Given the description of an element on the screen output the (x, y) to click on. 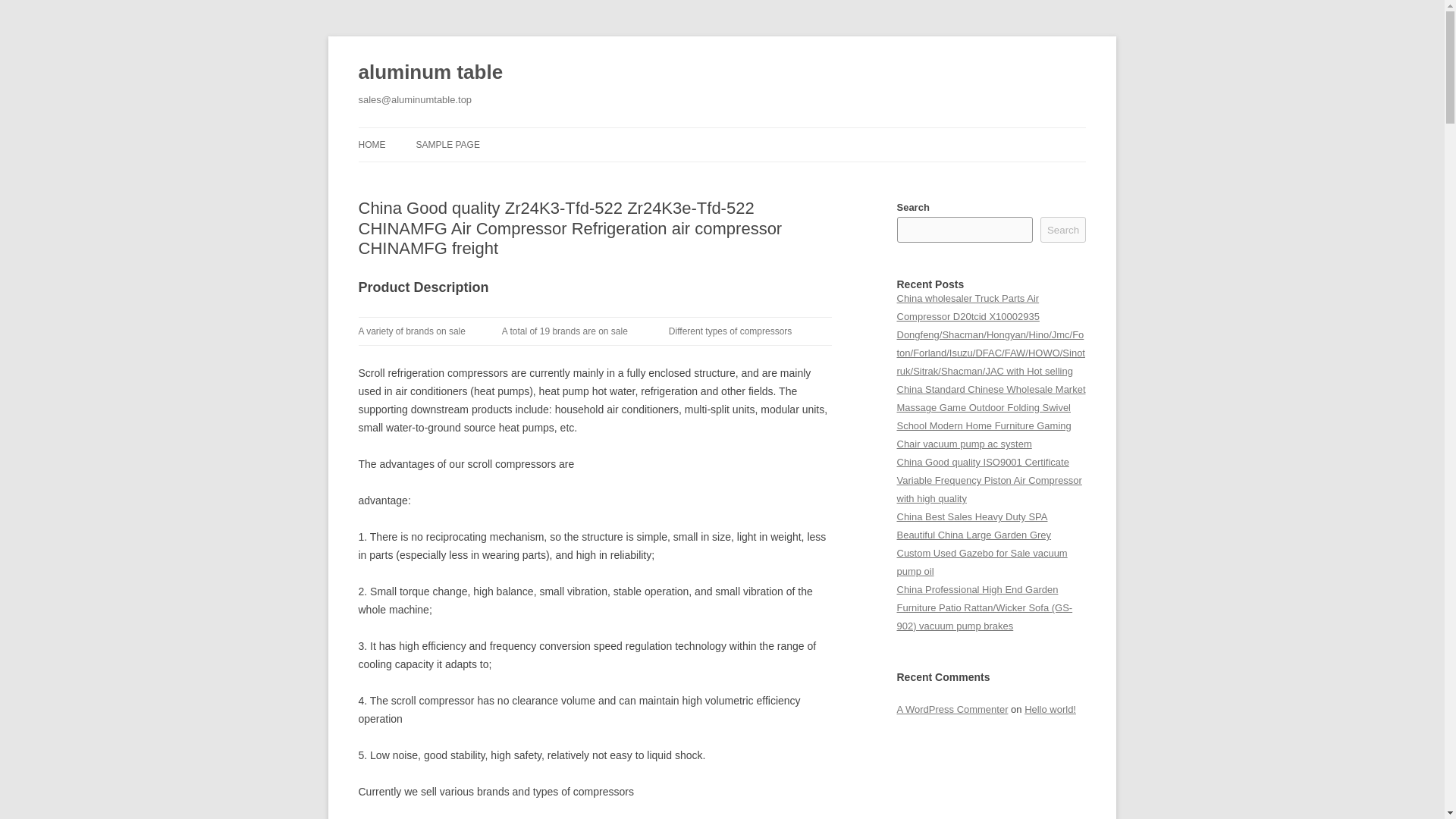
SAMPLE PAGE (446, 144)
Hello world! (1050, 708)
A WordPress Commenter (951, 708)
Search (1063, 229)
aluminum table (430, 72)
